Given the description of an element on the screen output the (x, y) to click on. 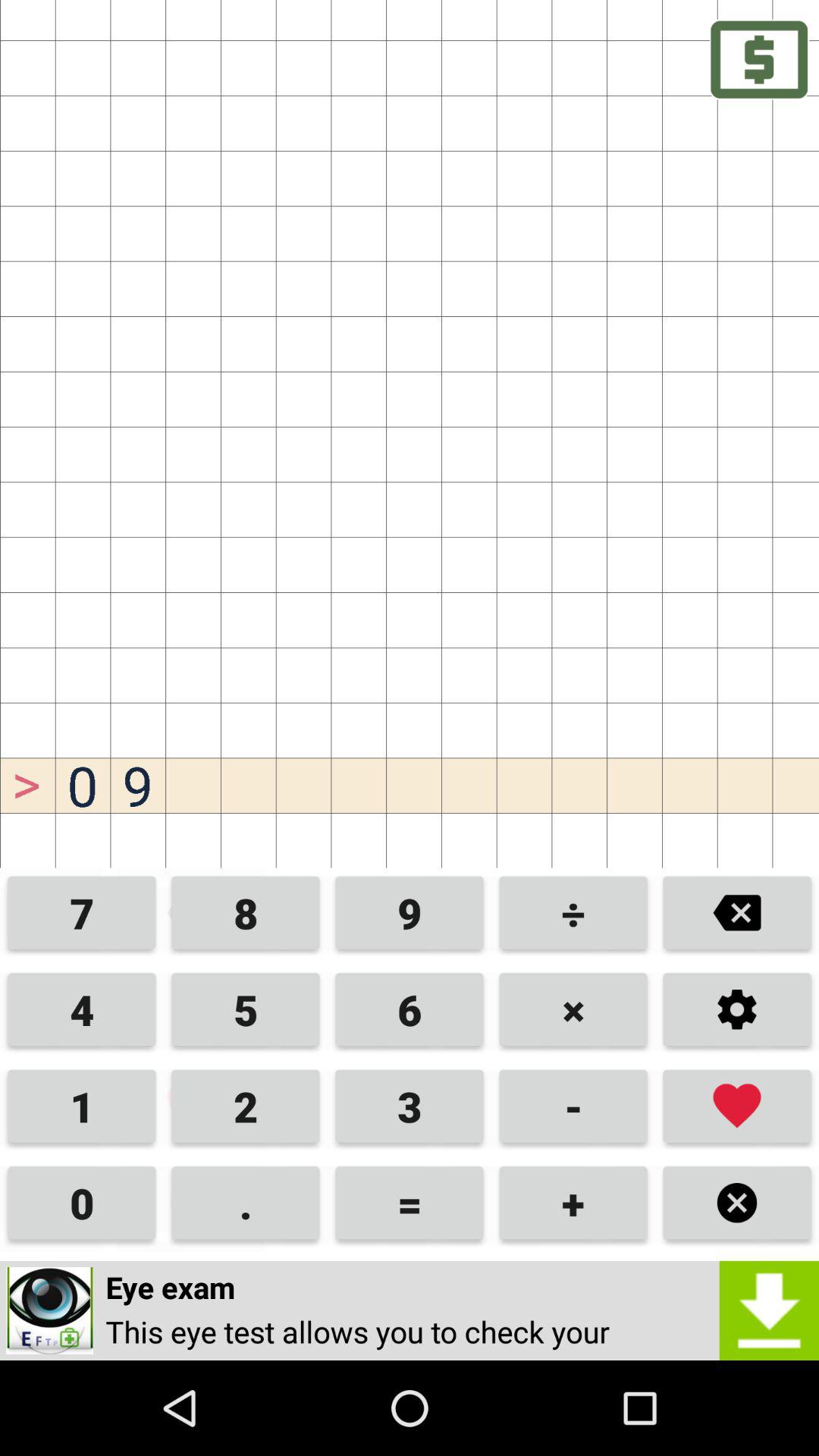
multiply option (737, 1202)
